Given the description of an element on the screen output the (x, y) to click on. 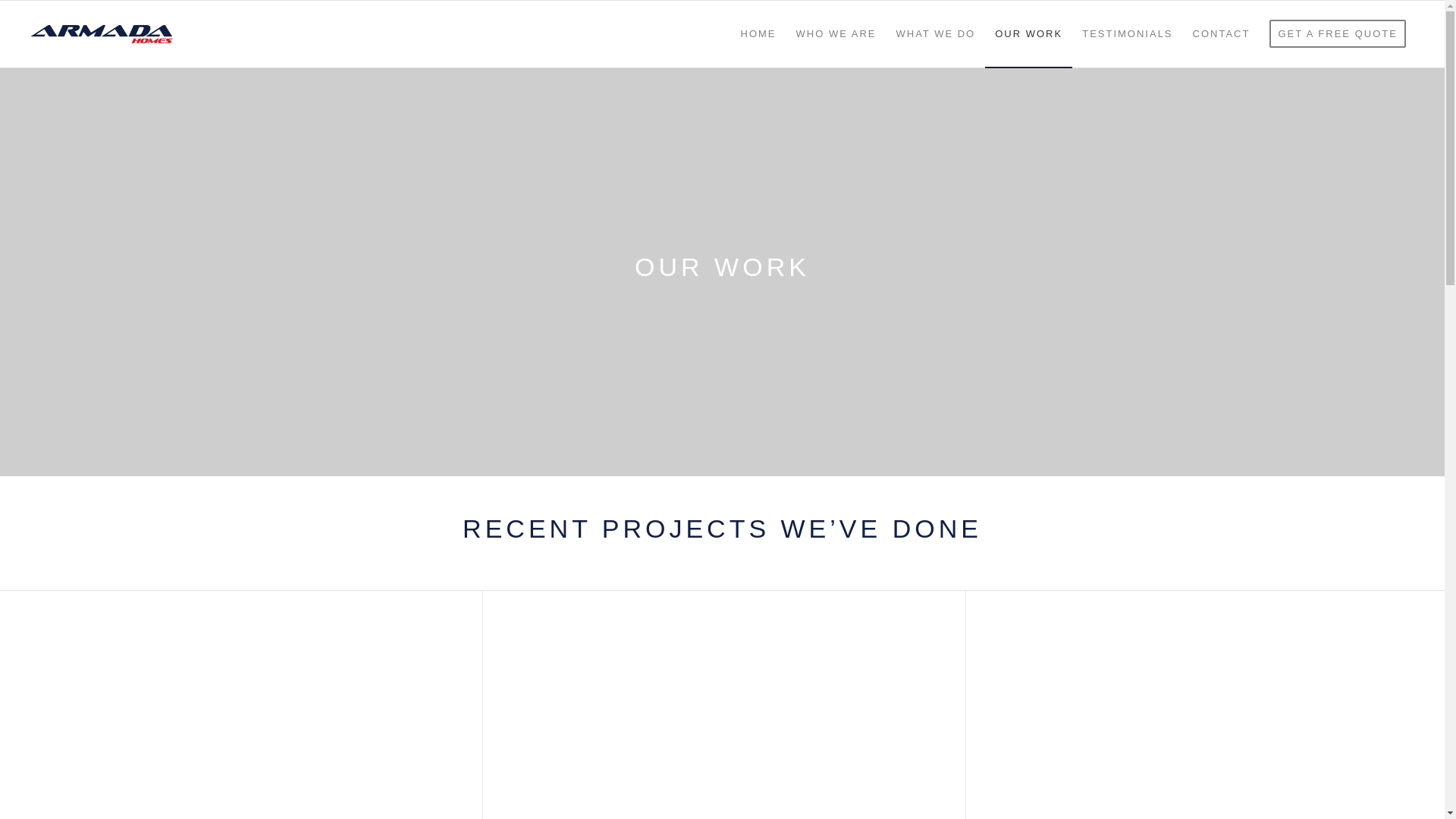
WHO WE ARE Element type: text (836, 33)
GET A FREE QUOTE Element type: text (1337, 33)
WHAT WE DO Element type: text (935, 33)
CONTACT Element type: text (1221, 33)
OUR WORK Element type: text (1028, 33)
HOME Element type: text (758, 33)
TESTIMONIALS Element type: text (1127, 33)
